Given the description of an element on the screen output the (x, y) to click on. 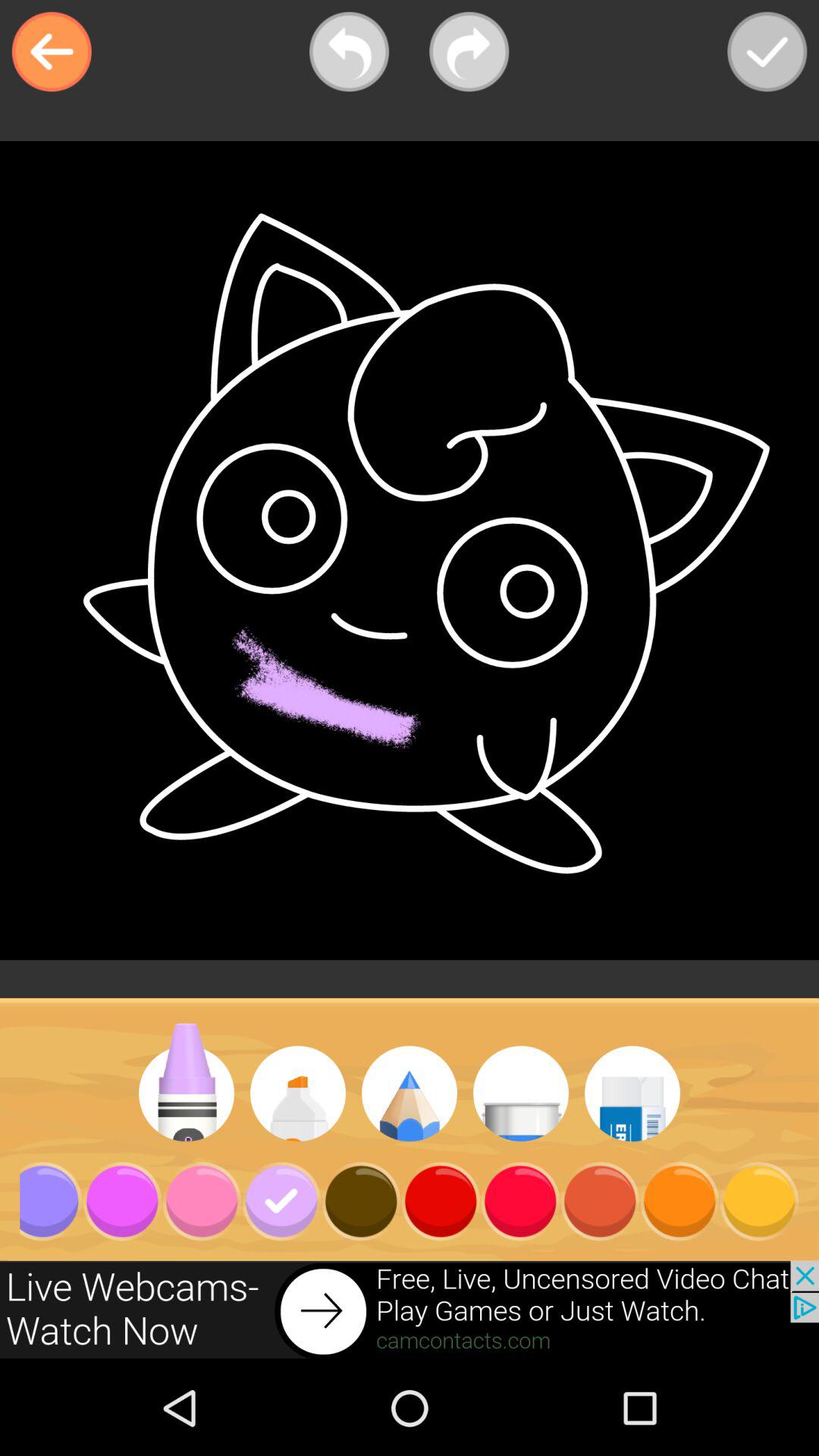
advertisement for live adult webcams (409, 1310)
